Given the description of an element on the screen output the (x, y) to click on. 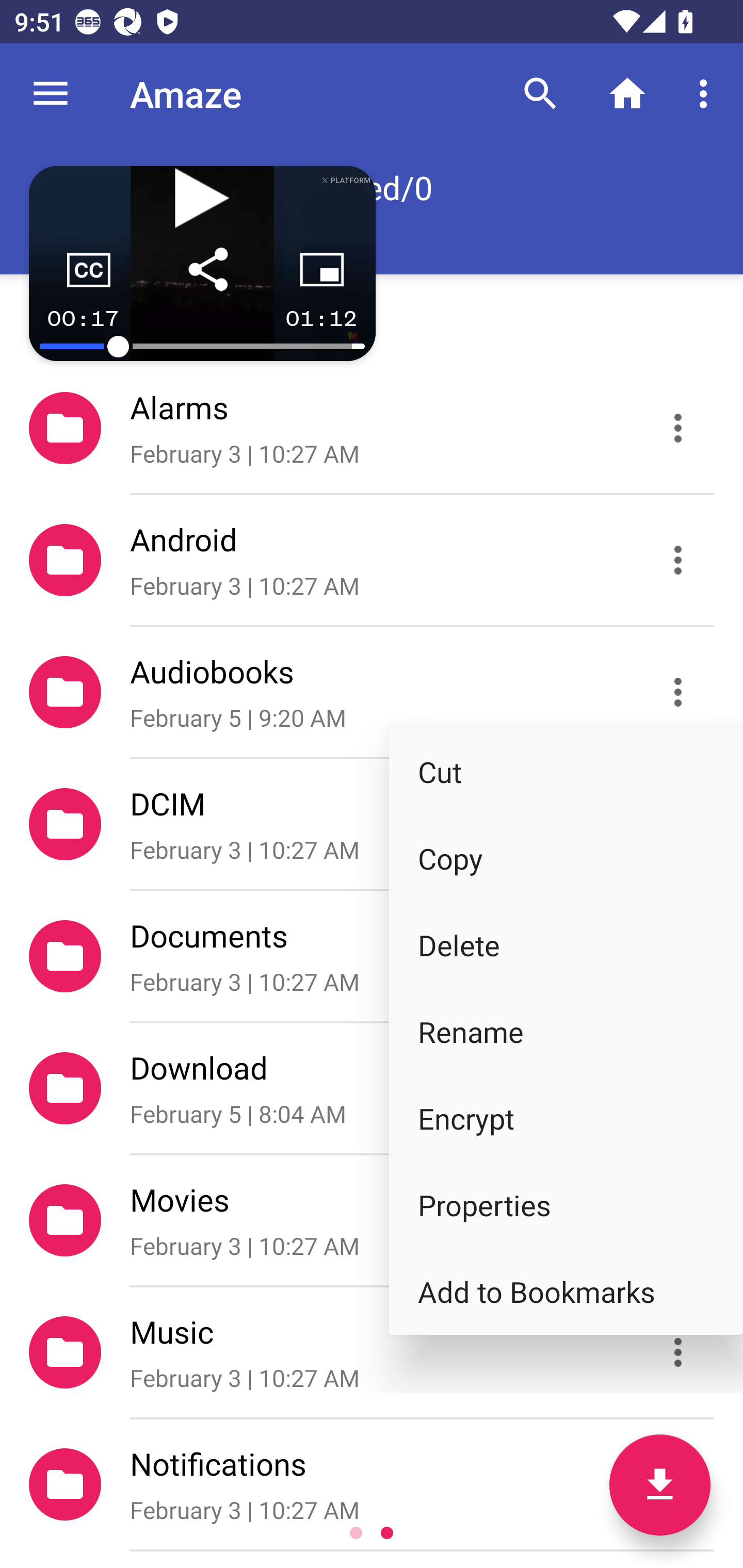
Cut (566, 771)
Copy (566, 858)
Delete (566, 944)
Rename (566, 1031)
Encrypt (566, 1118)
Properties (566, 1204)
Add to Bookmarks (566, 1291)
